Given the description of an element on the screen output the (x, y) to click on. 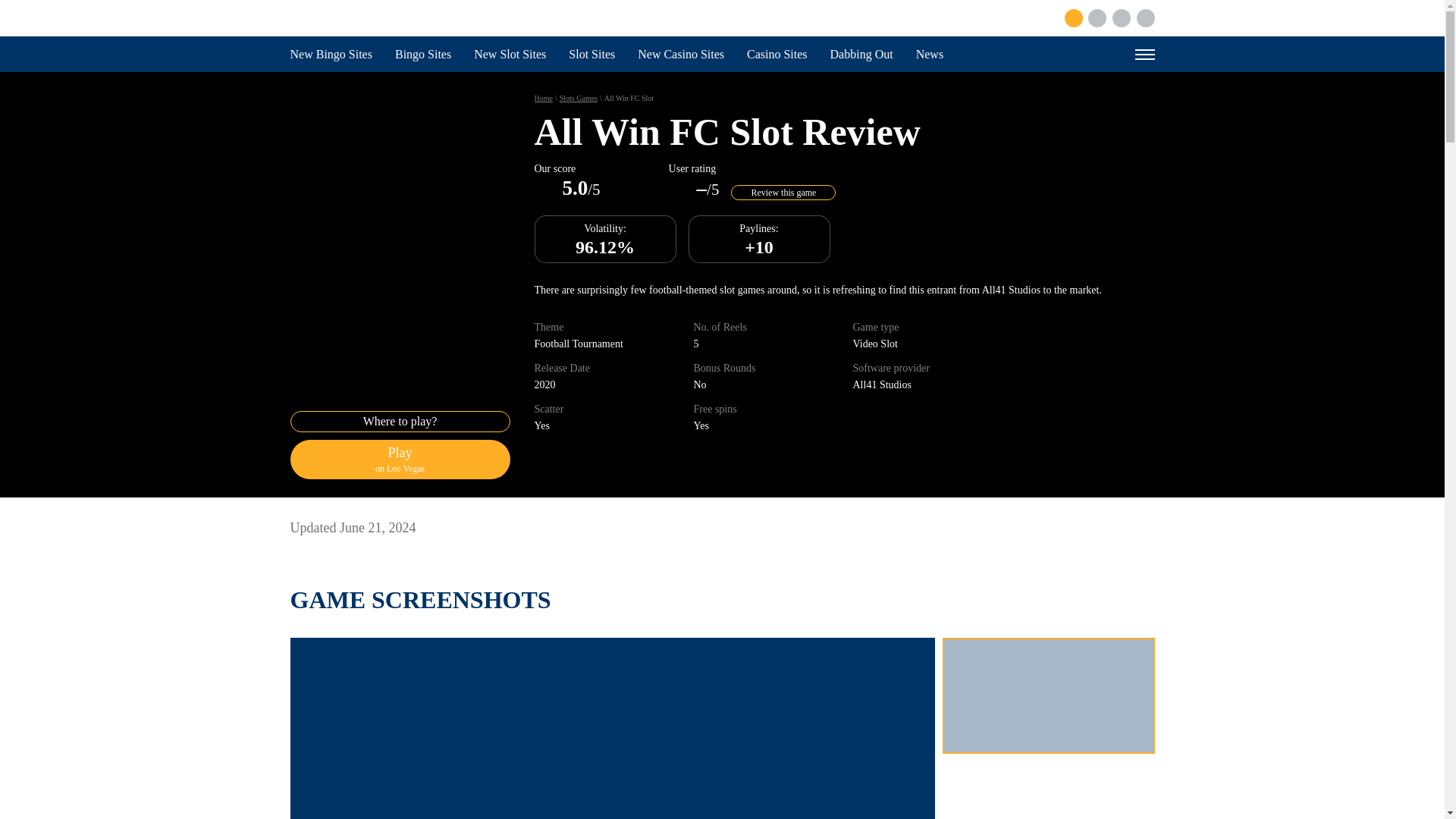
Bingo Sites (423, 54)
New Bingo Sites (331, 54)
Slot Sites (591, 54)
New Slot Sites (510, 54)
Where to play? (399, 421)
